Given the description of an element on the screen output the (x, y) to click on. 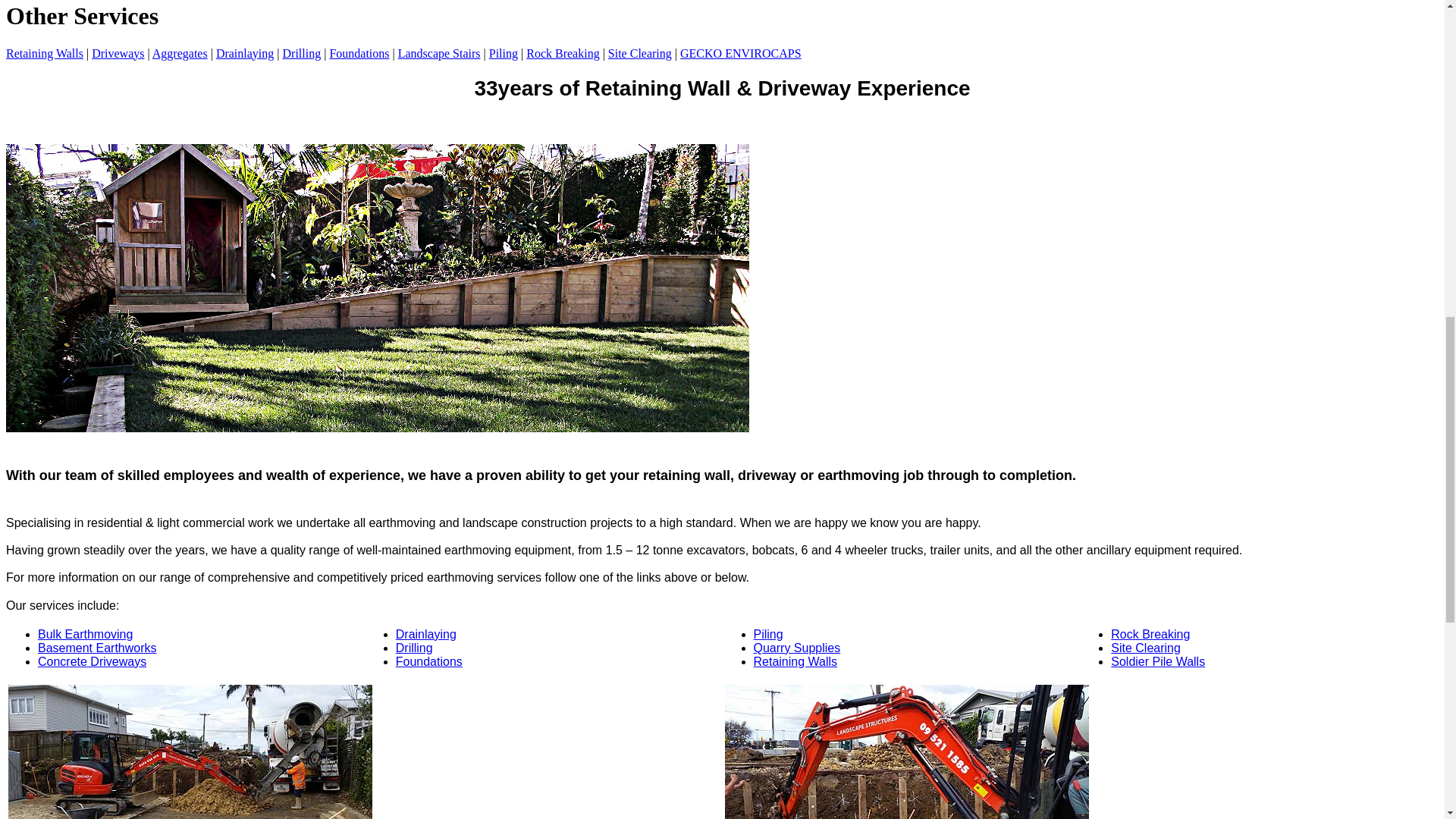
GECKO ENVIROCAPS (740, 52)
Piling (503, 52)
Aggregates (180, 52)
Driveways (117, 52)
Concrete Driveways (92, 661)
Foundations (358, 52)
Drilling (301, 52)
Landscape Stairs (438, 52)
Rock Breaking (561, 52)
